Given the description of an element on the screen output the (x, y) to click on. 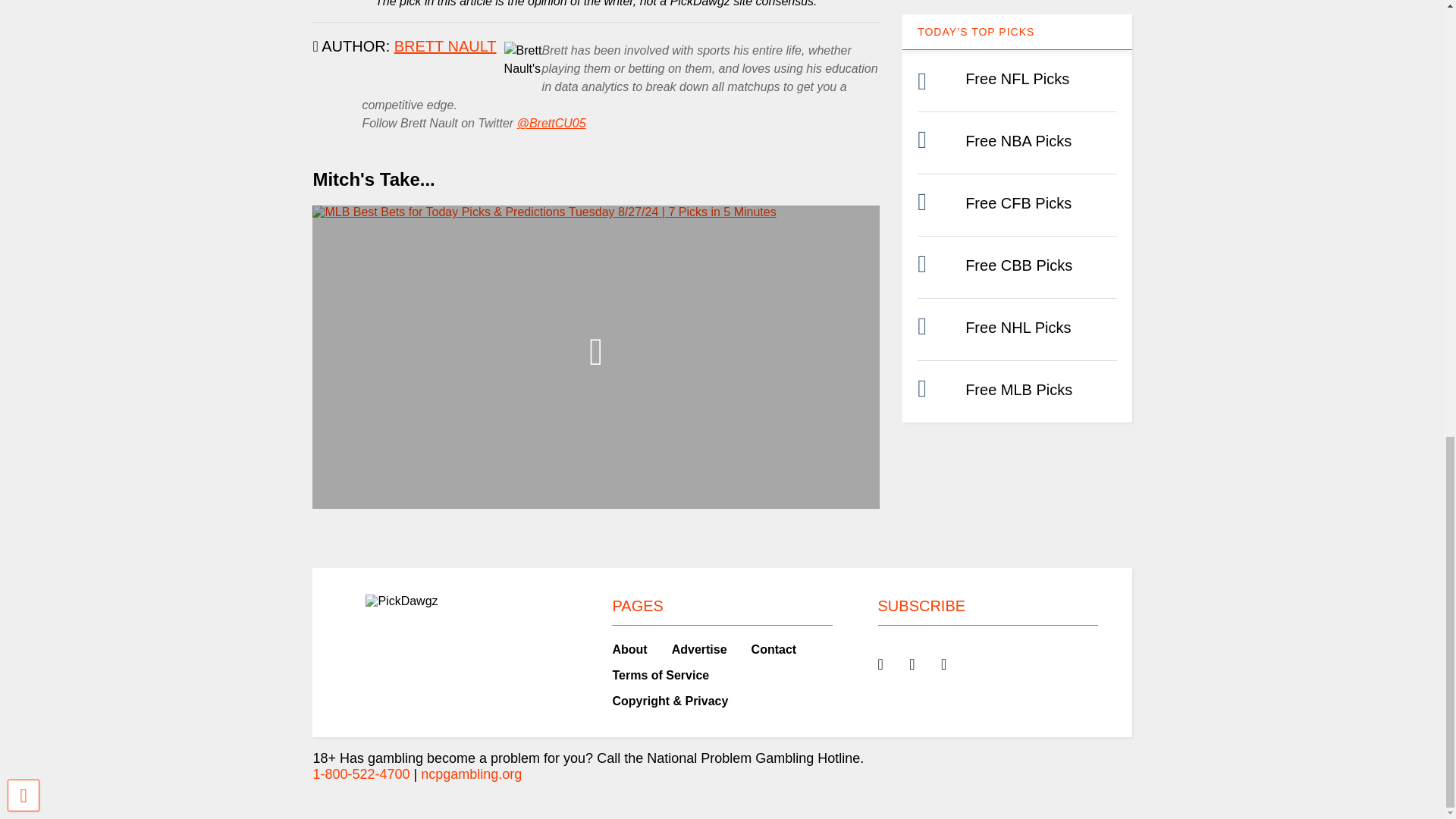
Free NHL Picks (1017, 327)
Free NFL Picks (1016, 78)
author profile (445, 45)
Free MLB Picks (1018, 389)
Free CFB Picks (1018, 202)
Free NBA Picks (1018, 140)
Free CBB Picks (1018, 265)
